Given the description of an element on the screen output the (x, y) to click on. 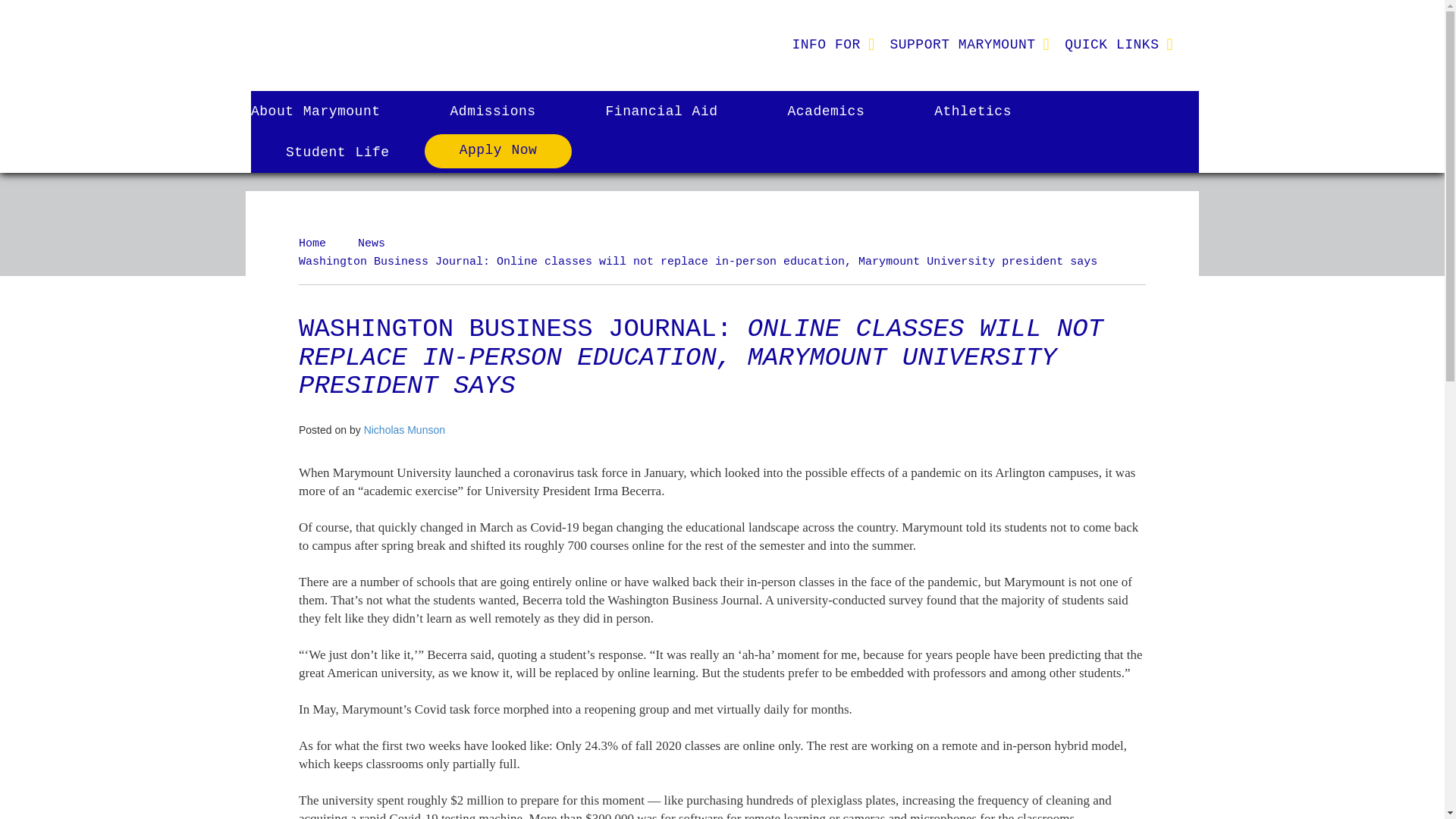
About Marymount (332, 110)
SUPPORT MARYMOUNT (962, 44)
INFO FOR (825, 44)
QUICK LINKS (1111, 44)
